Given the description of an element on the screen output the (x, y) to click on. 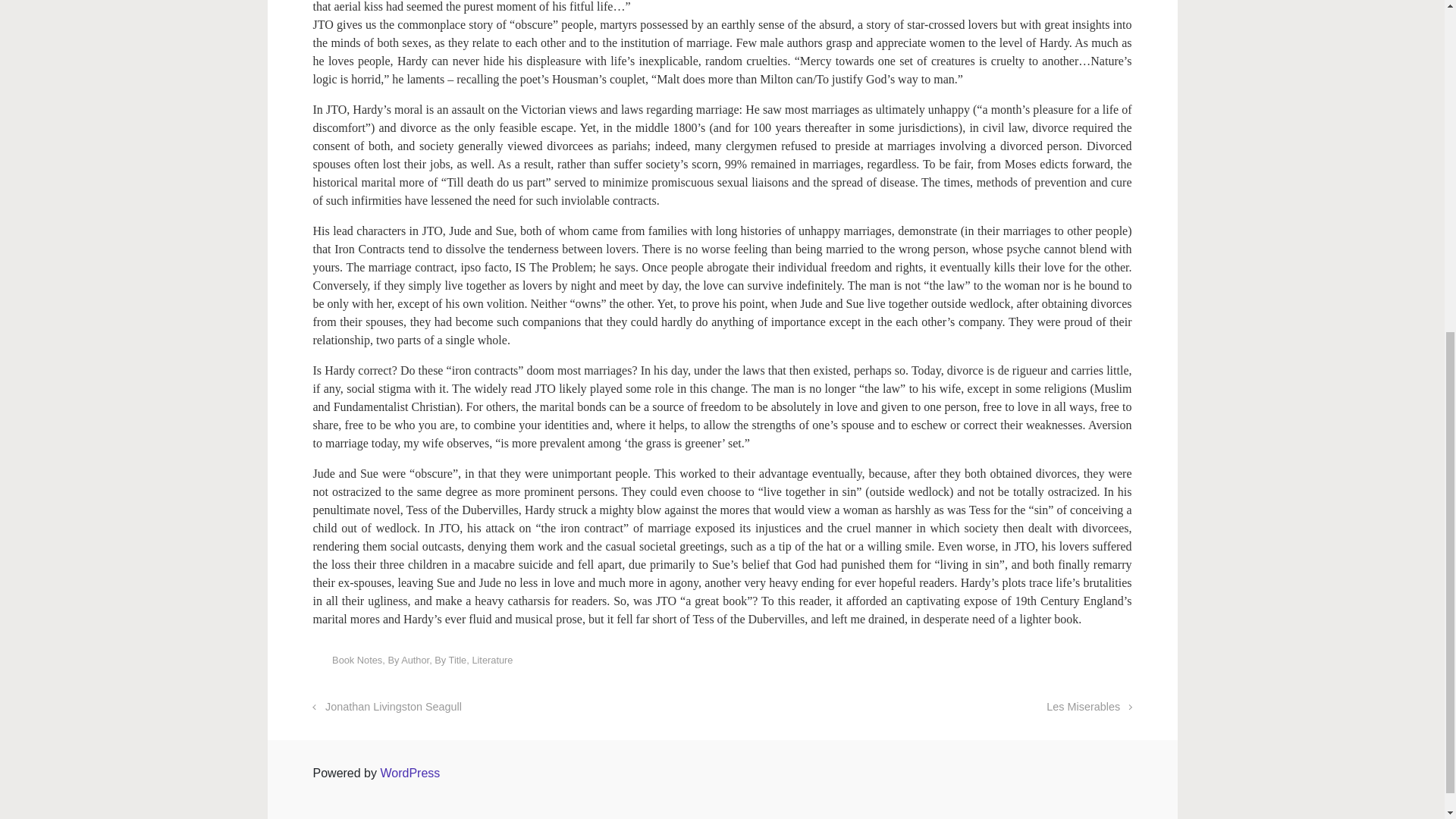
Share on Facebook (1058, 663)
Share on Twitter (1035, 663)
Share on Pinterest (1080, 663)
Share by Email (1103, 663)
